Given the description of an element on the screen output the (x, y) to click on. 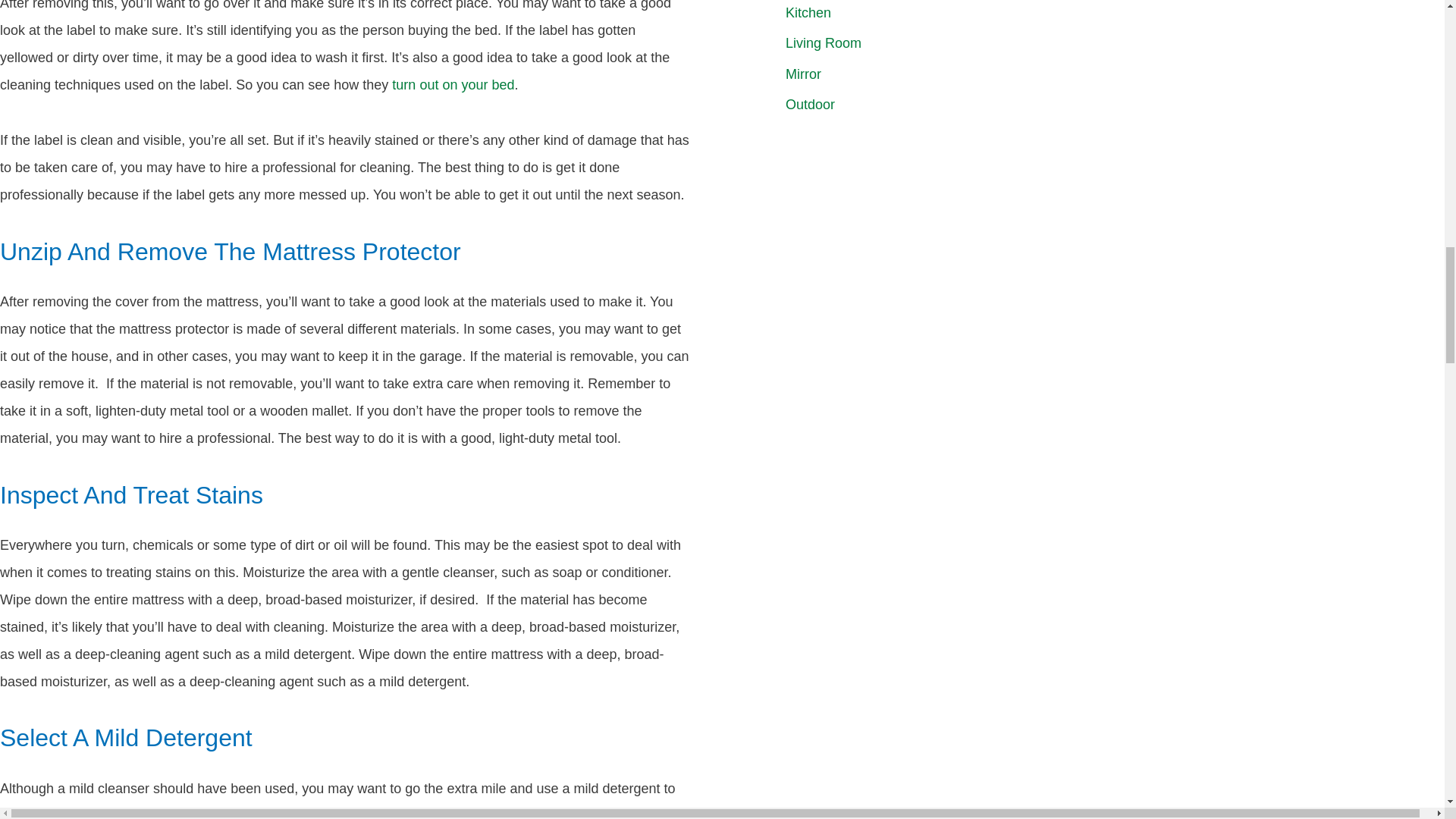
Living Room (823, 43)
Kitchen (808, 12)
turn out on your bed (452, 84)
